Given the description of an element on the screen output the (x, y) to click on. 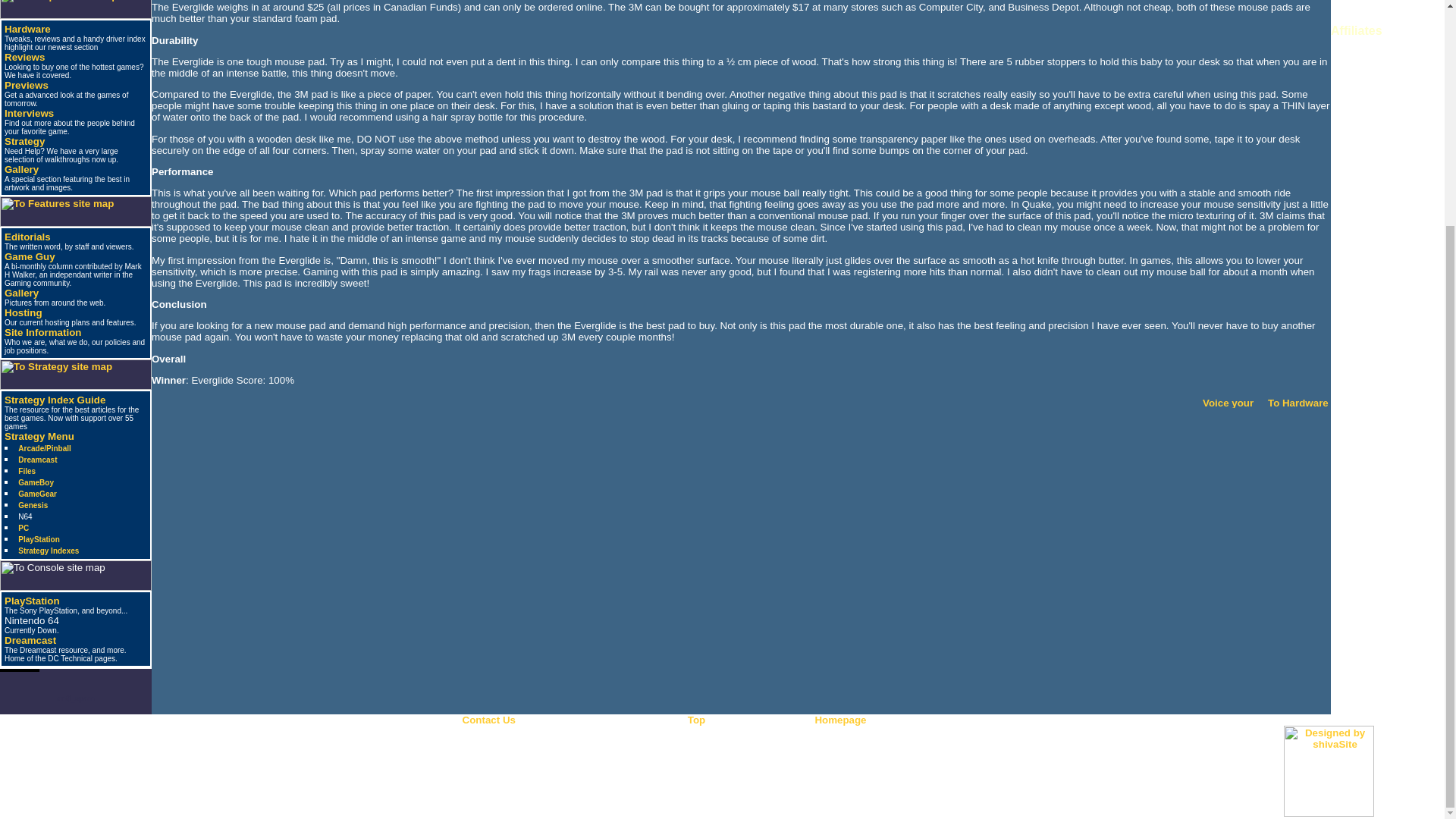
Gallery (21, 169)
GameBoy (35, 482)
Hosting (23, 312)
PC (23, 528)
Reviews (24, 57)
Game Guy (29, 256)
Strategy Index Guide (54, 399)
Strategy Indexes (47, 551)
Dreamcast (30, 640)
Interviews (28, 112)
Gallery (21, 292)
GameGear (36, 493)
Hardware (27, 29)
PlayStation (38, 539)
PlayStation (31, 600)
